Given the description of an element on the screen output the (x, y) to click on. 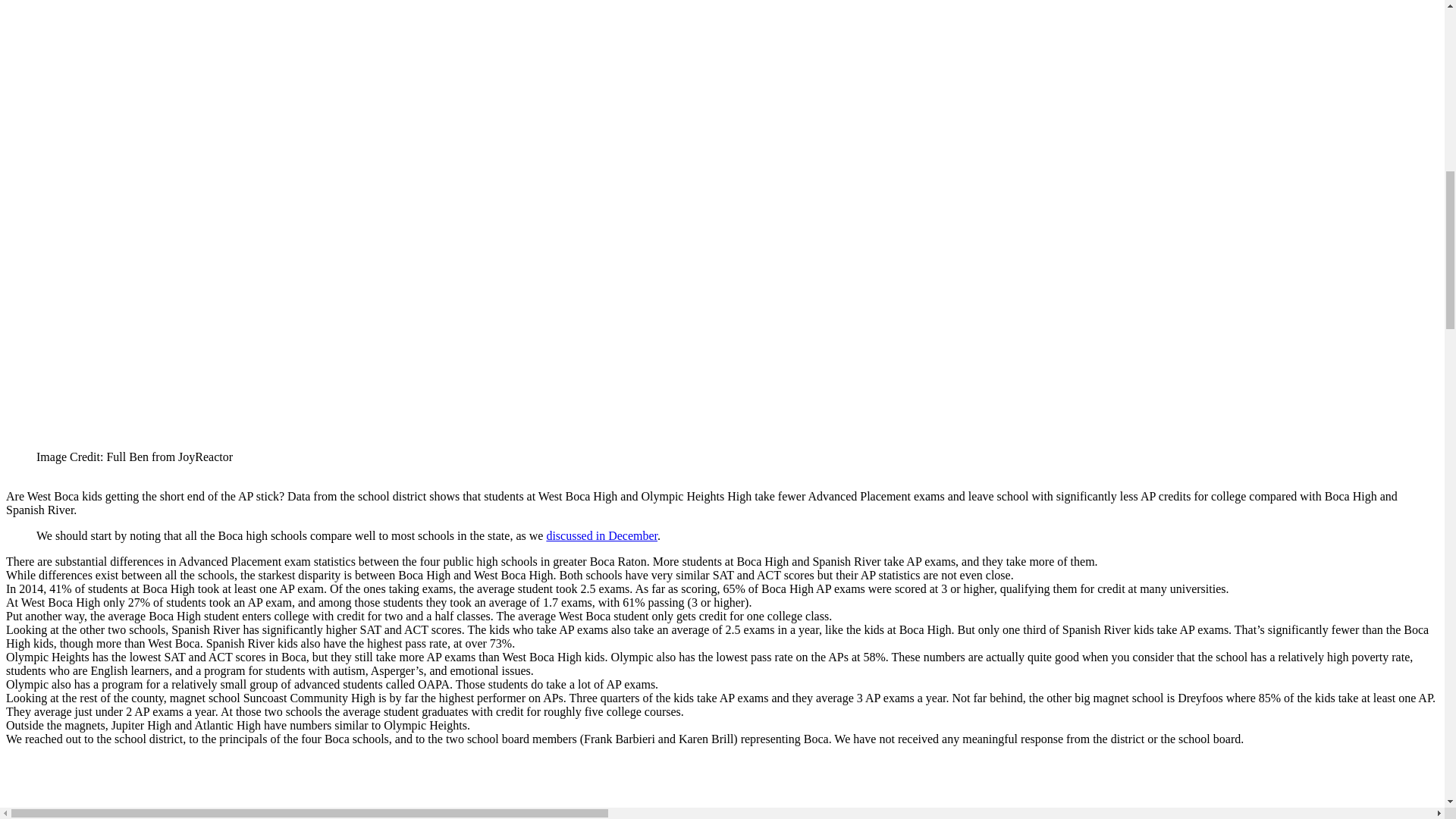
discussed in December (602, 535)
